Given the description of an element on the screen output the (x, y) to click on. 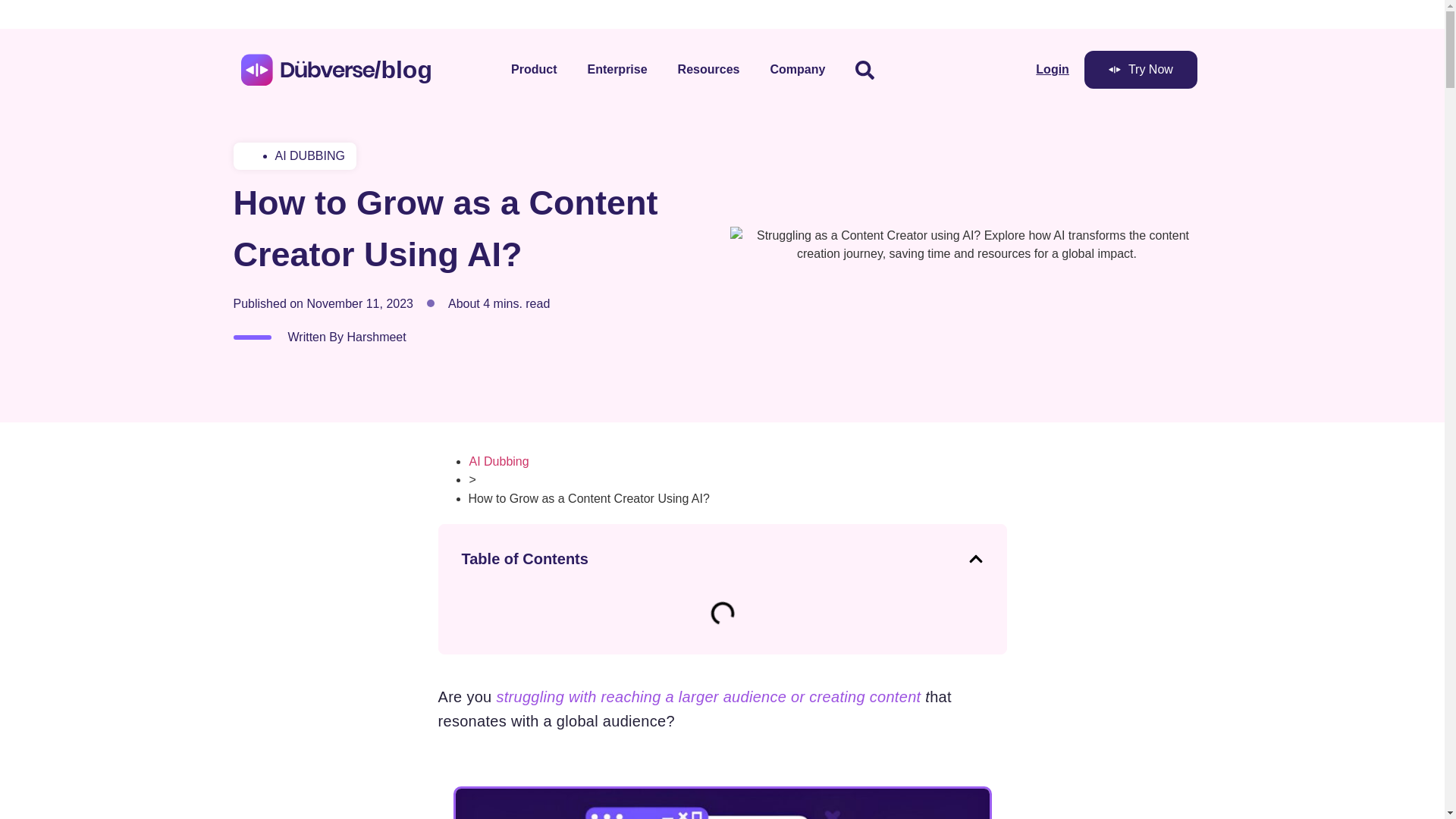
Product (534, 69)
Enterprise (617, 69)
How to Grow as a Content Creator Using AI? (589, 498)
AI Dubbing (498, 461)
Company (797, 69)
Resources (708, 69)
